Given the description of an element on the screen output the (x, y) to click on. 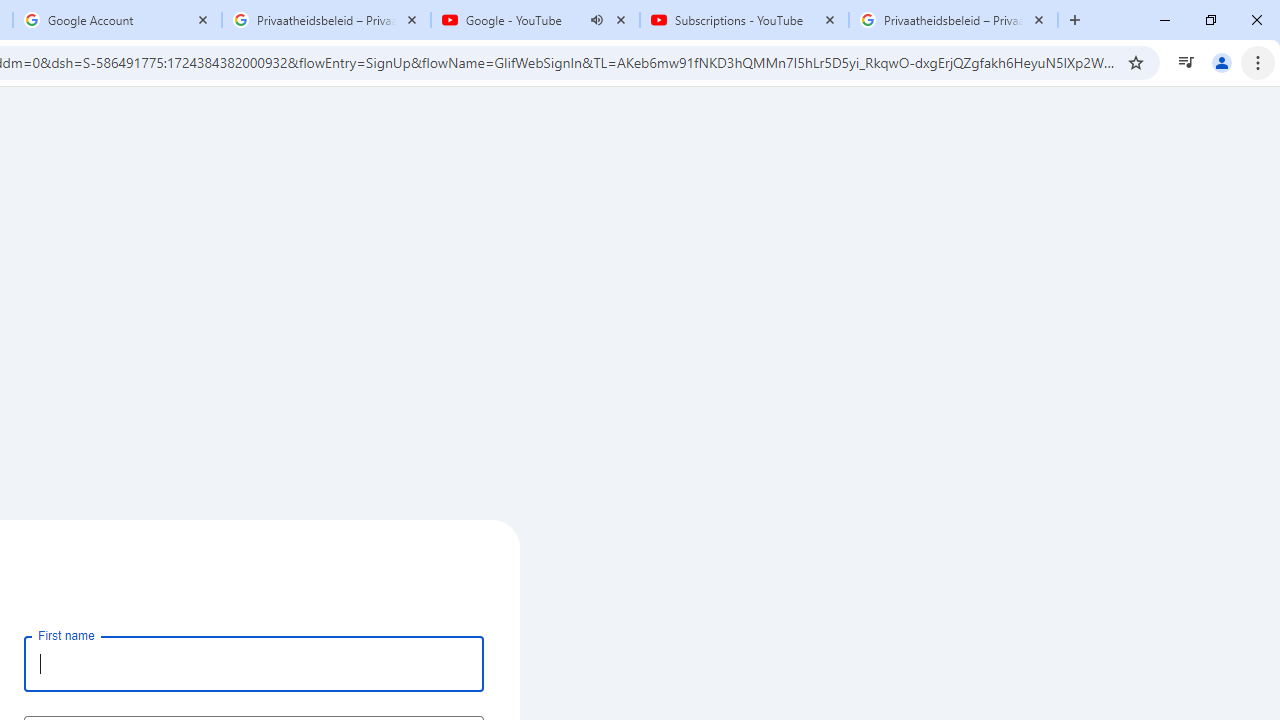
First name (253, 663)
Control your music, videos, and more (1185, 62)
Google - YouTube - Audio playing (535, 20)
Mute tab (596, 20)
Subscriptions - YouTube (744, 20)
Google Account (116, 20)
